Given the description of an element on the screen output the (x, y) to click on. 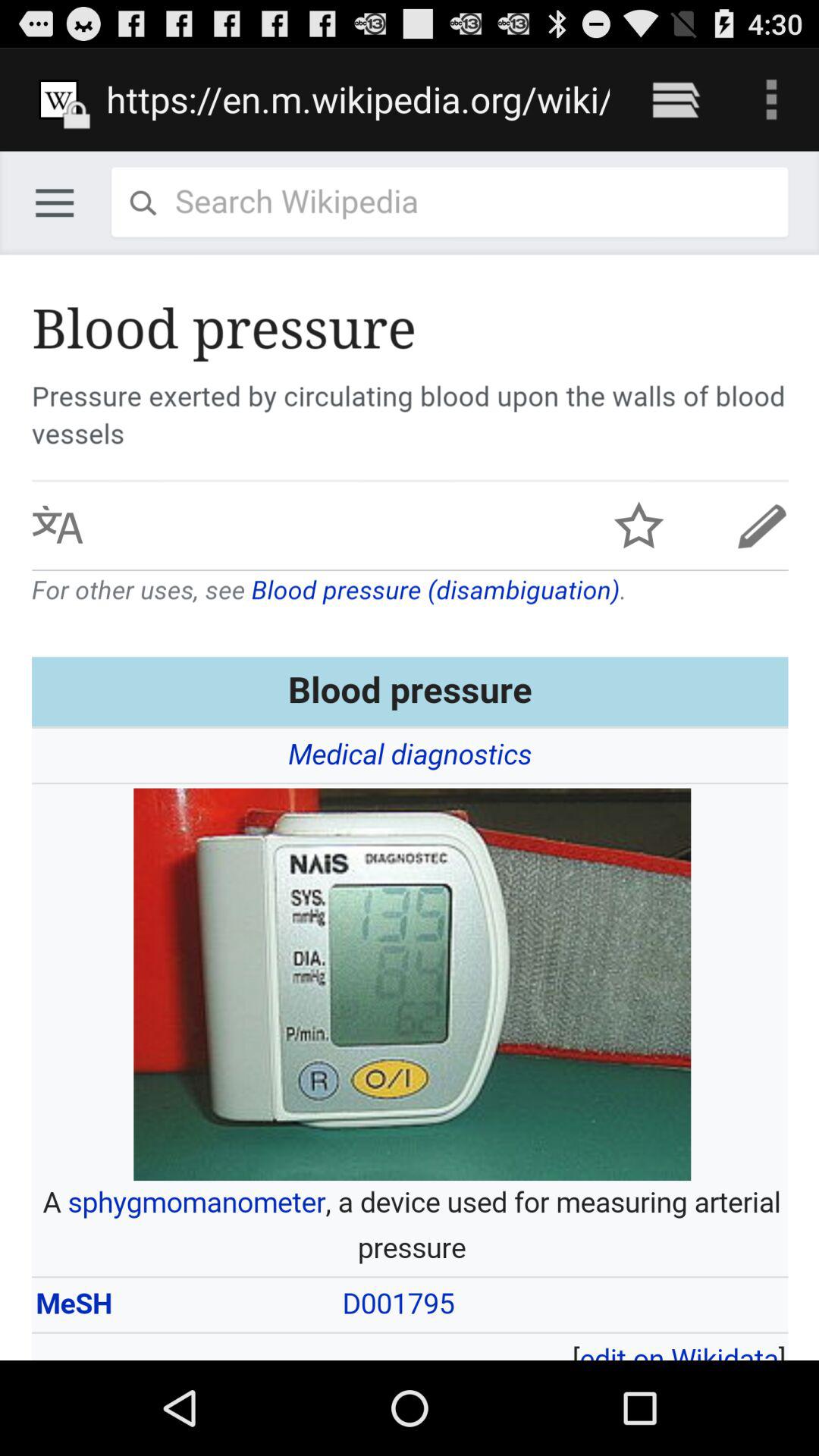
turn on the icon below https en m icon (409, 755)
